Given the description of an element on the screen output the (x, y) to click on. 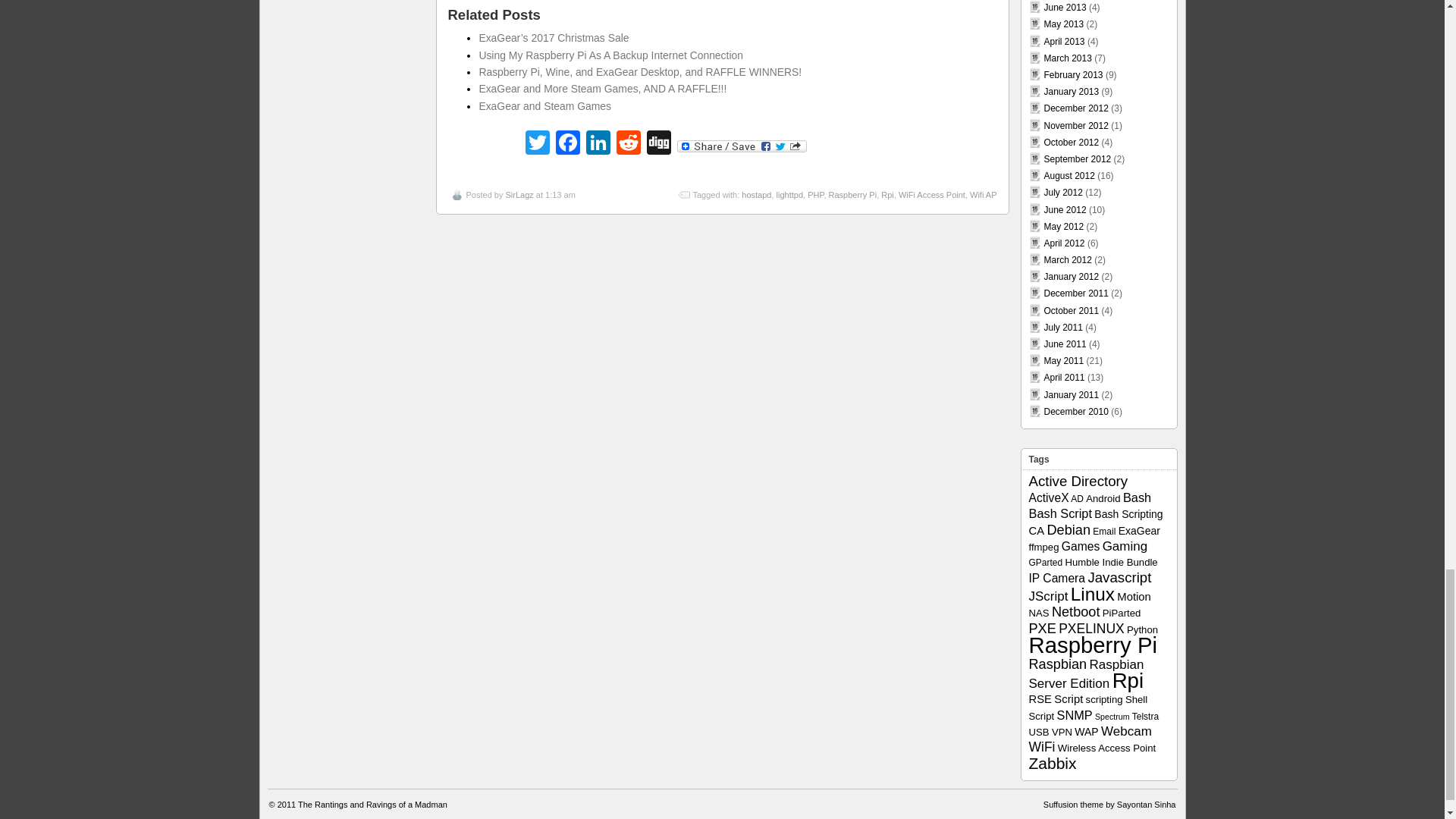
Twitter (536, 144)
Digg (657, 144)
Reddit (627, 144)
Reddit (627, 144)
Using My Raspberry Pi As A Backup Internet Connection (610, 55)
Twitter (536, 144)
SirLagz (518, 194)
Raspberry Pi, Wine, and ExaGear Desktop, and RAFFLE WINNERS! (640, 71)
Facebook (566, 144)
Using My Raspberry Pi As A Backup Internet Connection (610, 55)
hostapd (756, 194)
ExaGear and More Steam Games, AND A RAFFLE!!! (602, 88)
ExaGear and More Steam Games, AND A RAFFLE!!! (602, 88)
Facebook (566, 144)
lighttpd (789, 194)
